Given the description of an element on the screen output the (x, y) to click on. 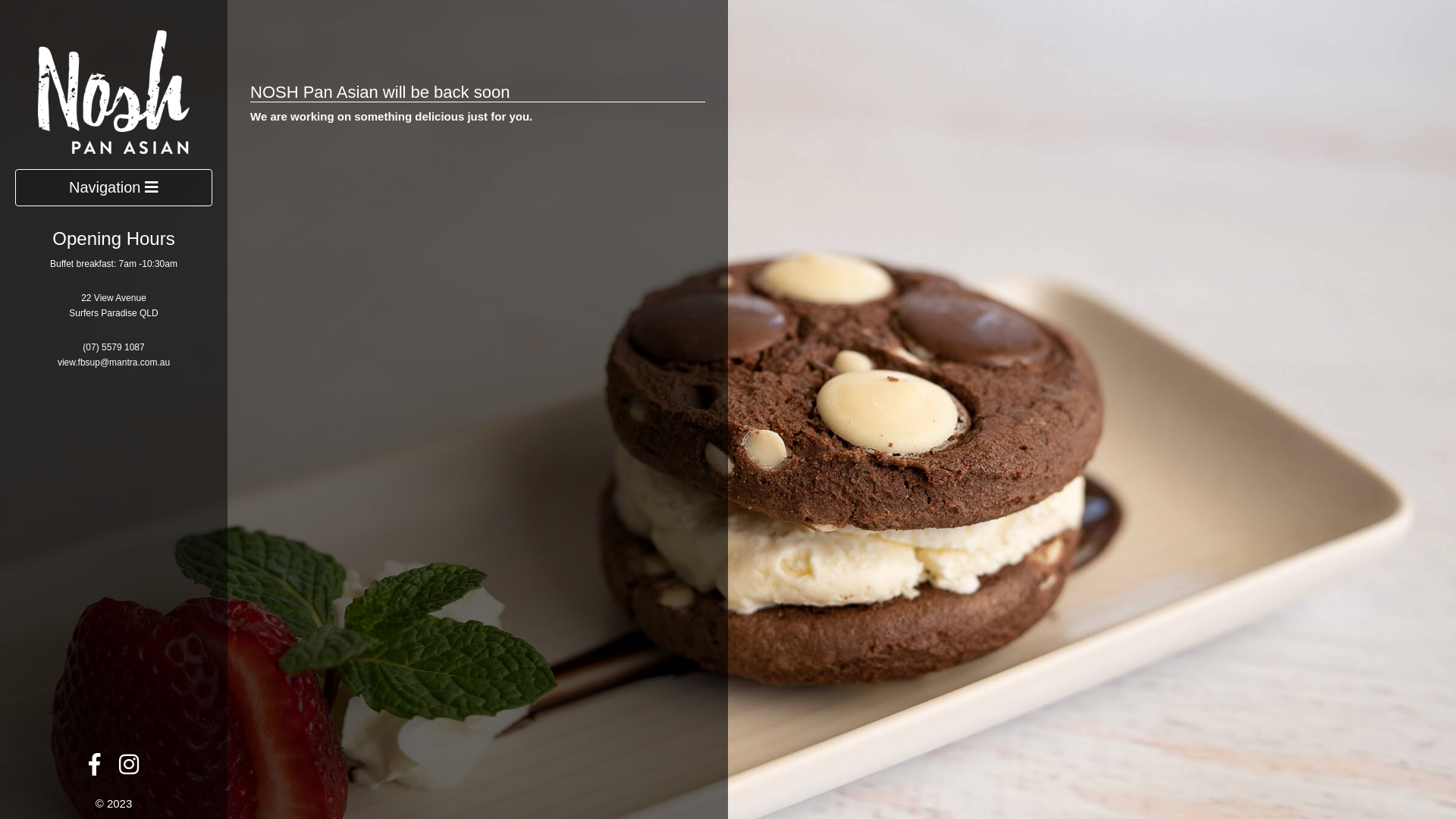
Navigation Element type: text (113, 187)
(07) 5579 1087 Element type: text (113, 347)
NOSH Pan Asian Element type: hover (113, 90)
view.fbsup@mantra.com.au Element type: text (113, 362)
Instagram Element type: hover (128, 768)
Facebook Element type: hover (94, 768)
